Given the description of an element on the screen output the (x, y) to click on. 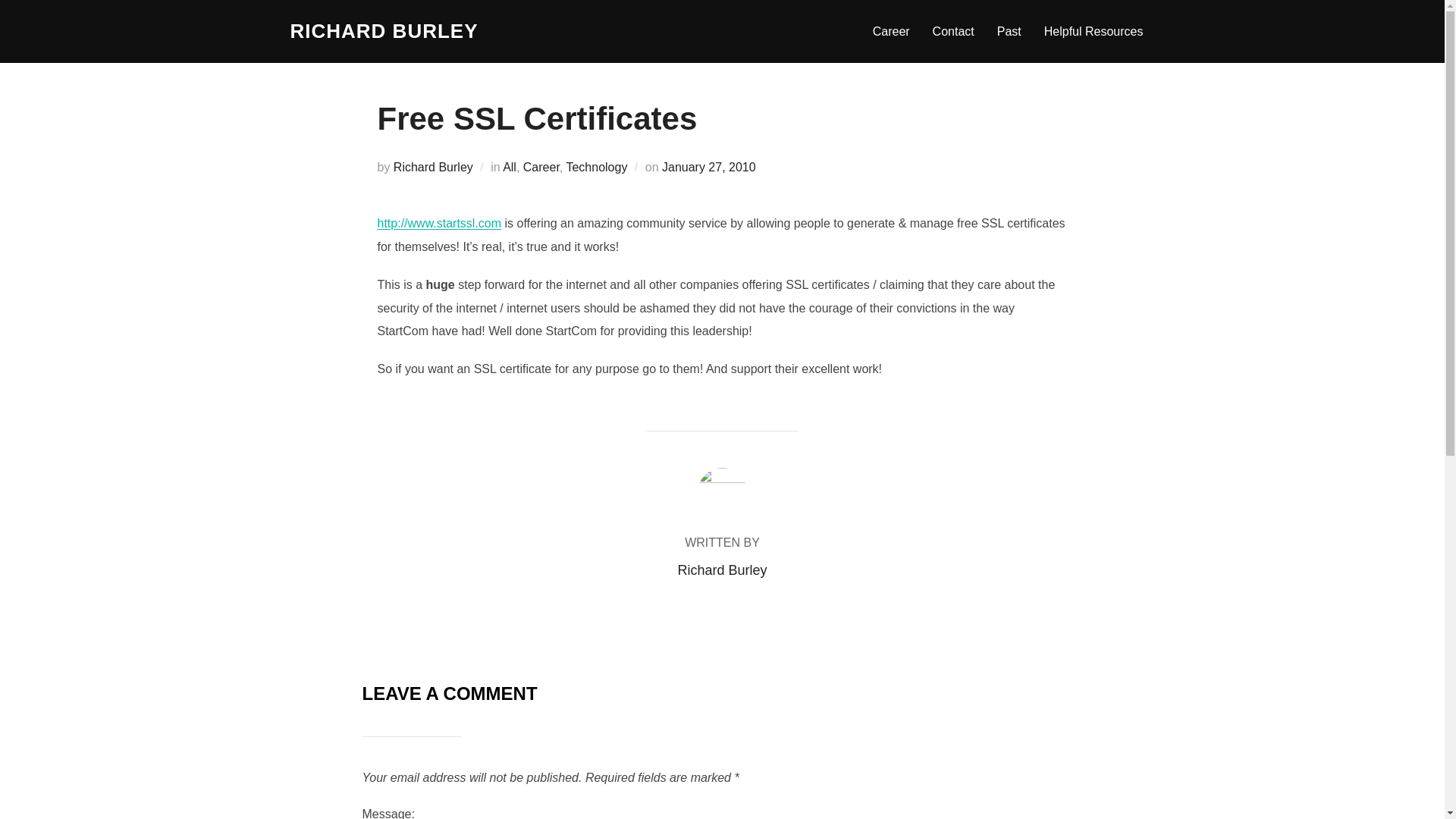
RICHARD BURLEY (383, 31)
Helpful Resources (1092, 30)
Career (540, 166)
All (509, 166)
Contact (953, 30)
January 27, 2010 (708, 166)
Richard Burley (722, 570)
Career (891, 30)
Technology (596, 166)
Posts by Richard Burley (722, 570)
Richard Burley (433, 166)
